Given the description of an element on the screen output the (x, y) to click on. 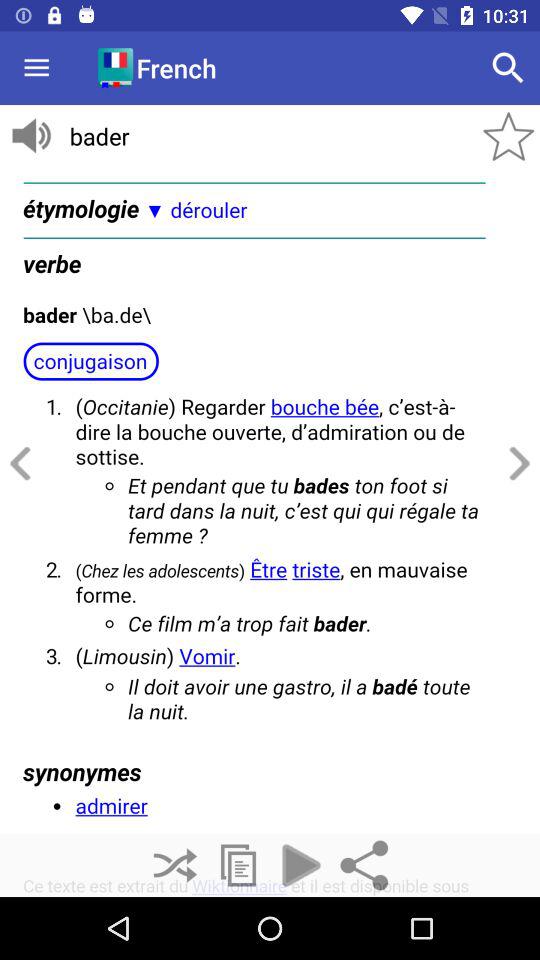
note pega (238, 865)
